Given the description of an element on the screen output the (x, y) to click on. 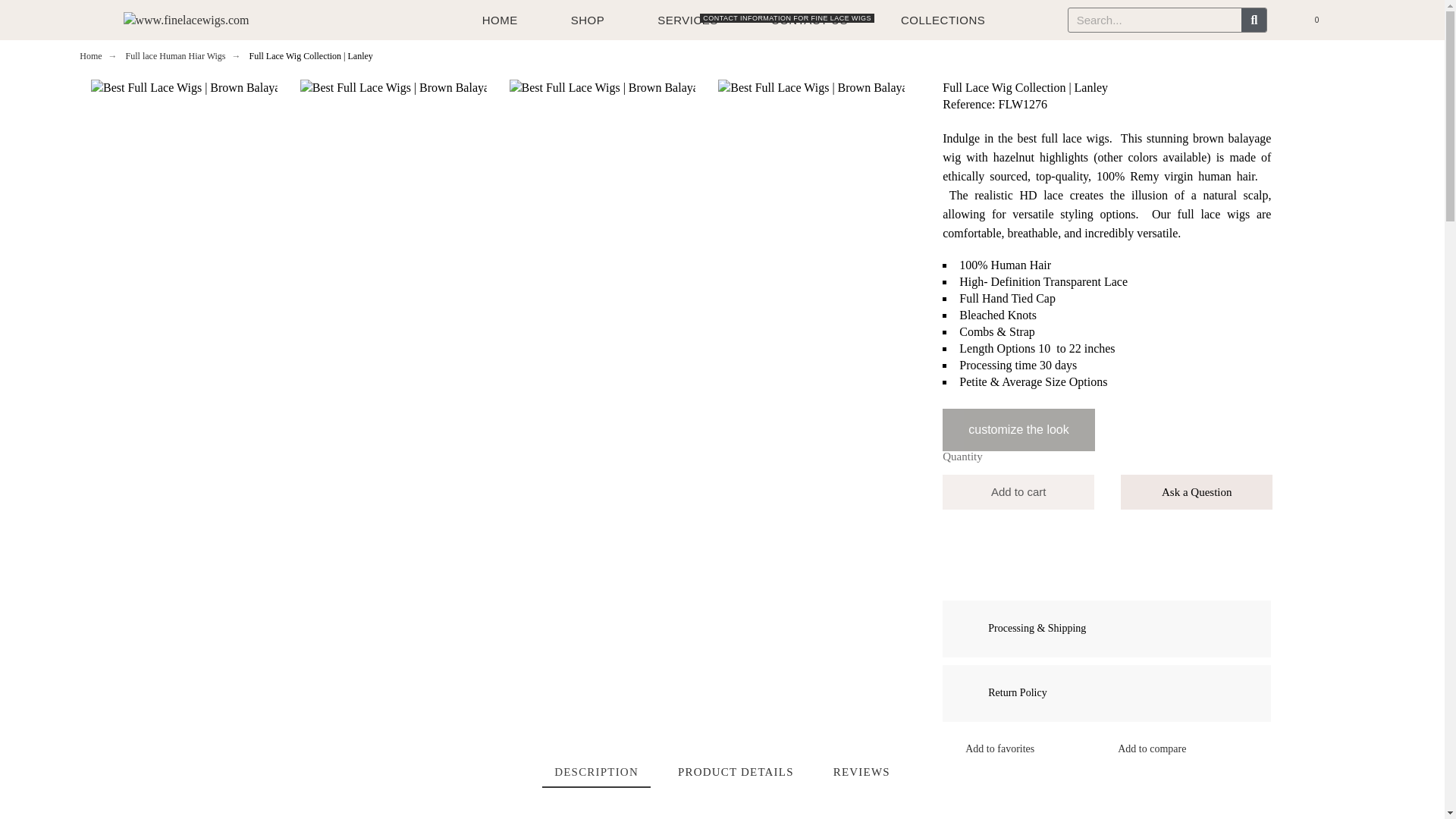
COLLECTIONS (809, 20)
SERVICES (943, 20)
SHOP (687, 20)
HOME (587, 20)
www.finelacewigs.com (499, 20)
